Given the description of an element on the screen output the (x, y) to click on. 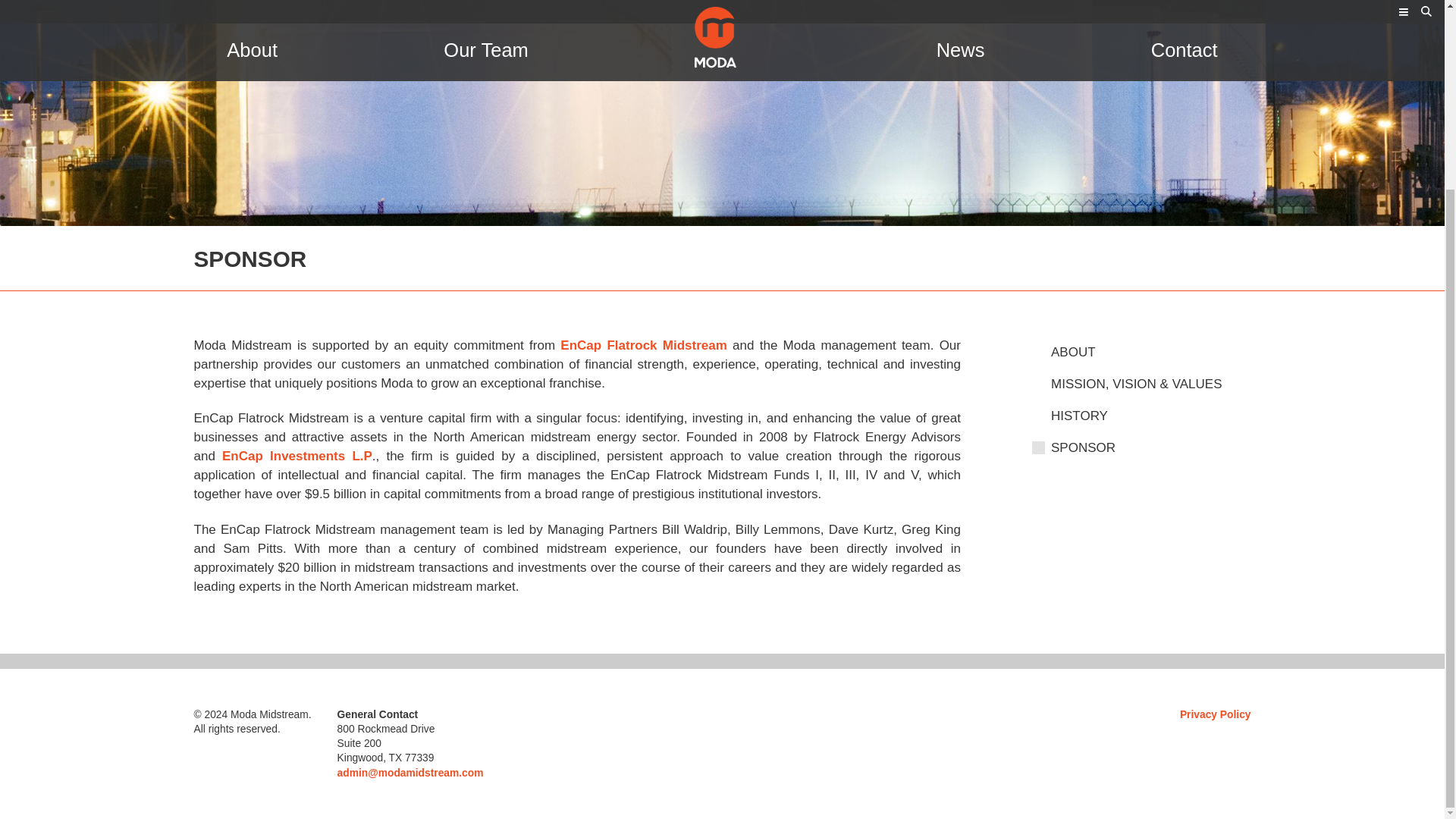
EnCap Investments L.P (297, 455)
EnCap Flatrock Midstream (643, 345)
Privacy Policy (1214, 714)
ABOUT (1150, 351)
